Given the description of an element on the screen output the (x, y) to click on. 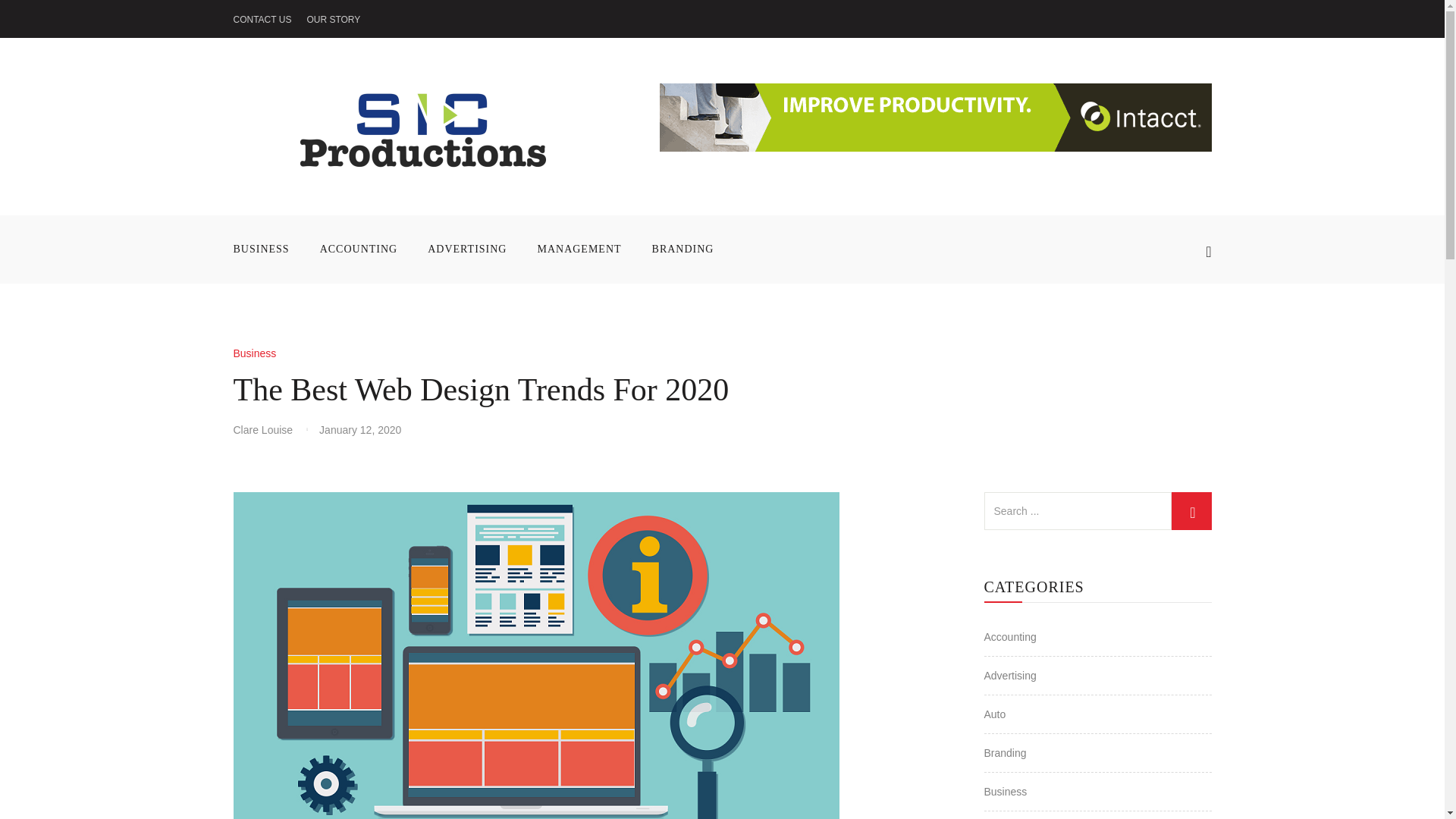
OUR STORY (332, 19)
BRANDING (683, 249)
January 12, 2020 (359, 429)
BUSINESS (268, 249)
CONTACT US (262, 19)
View all posts in Business (254, 353)
Business (254, 353)
ADVERTISING (466, 249)
Accounting (1010, 636)
ACCOUNTING (358, 249)
